Given the description of an element on the screen output the (x, y) to click on. 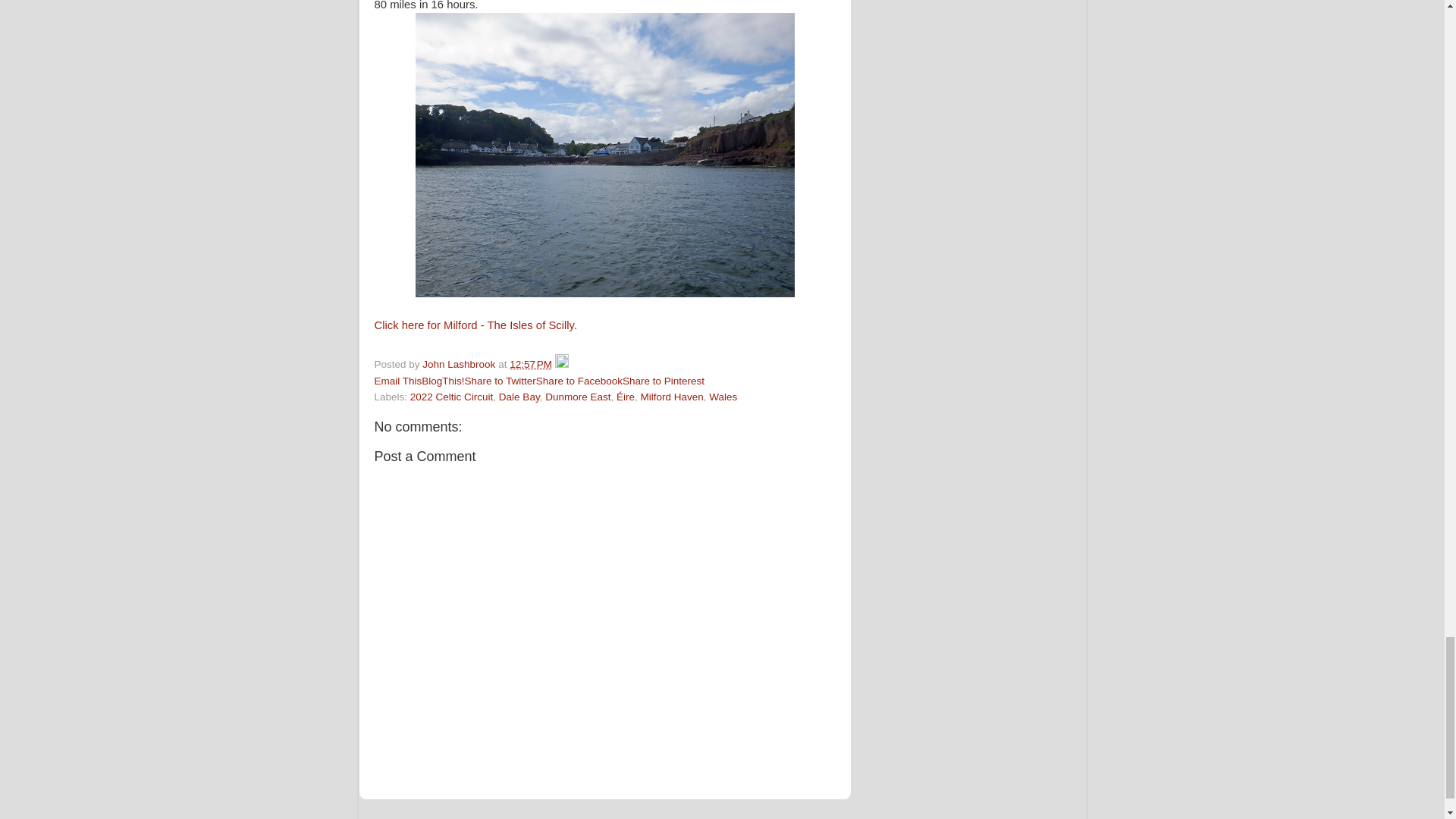
BlogThis! (443, 380)
Dunmore East (577, 396)
Share to Facebook (579, 380)
author profile (459, 364)
Email This (398, 380)
Click here for Milford - The Isles of Scilly. (476, 325)
Dale Bay (519, 396)
Share to Twitter (499, 380)
Share to Twitter (499, 380)
Share to Pinterest (663, 380)
